Given the description of an element on the screen output the (x, y) to click on. 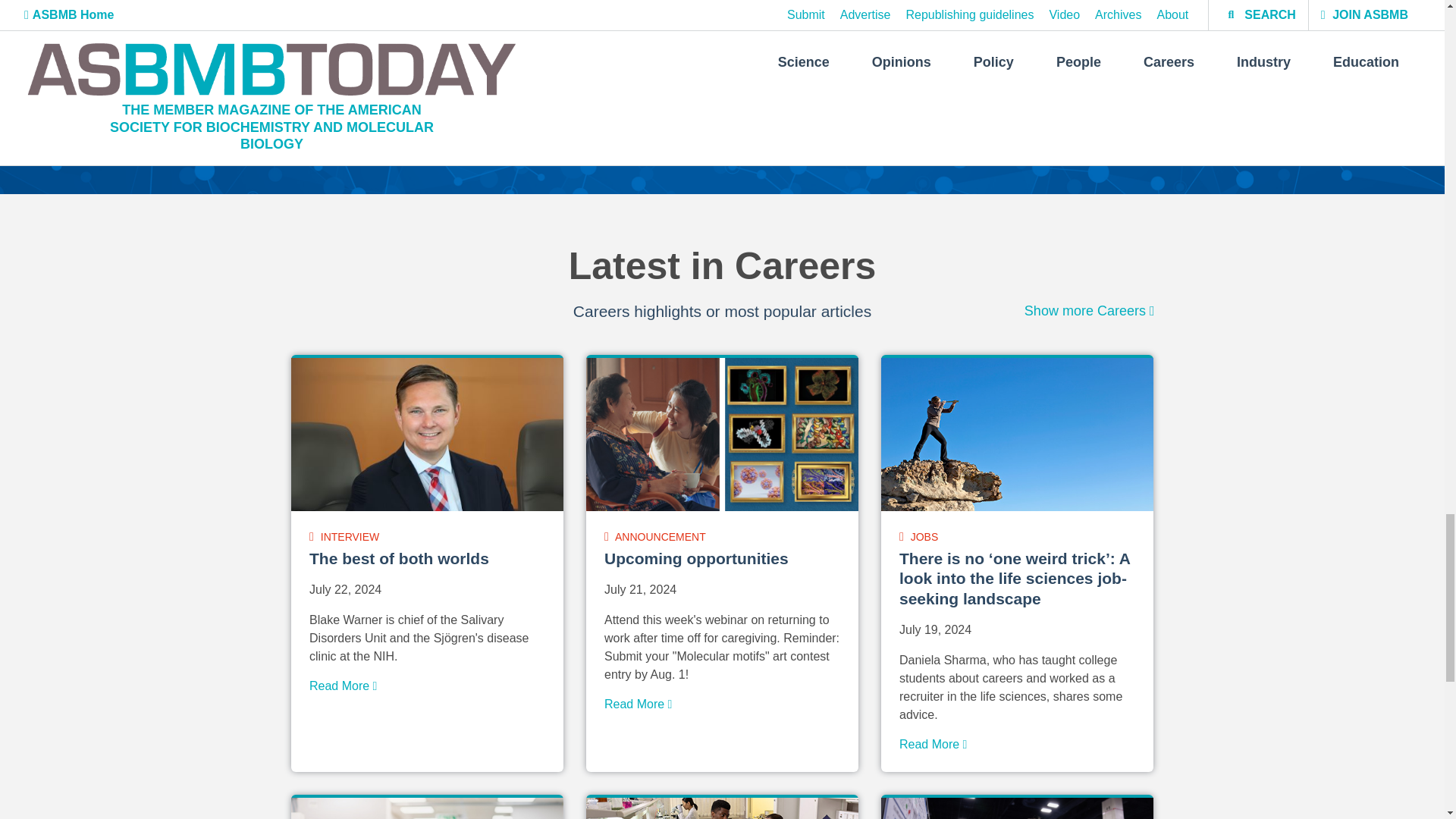
Submit (922, 112)
